Given the description of an element on the screen output the (x, y) to click on. 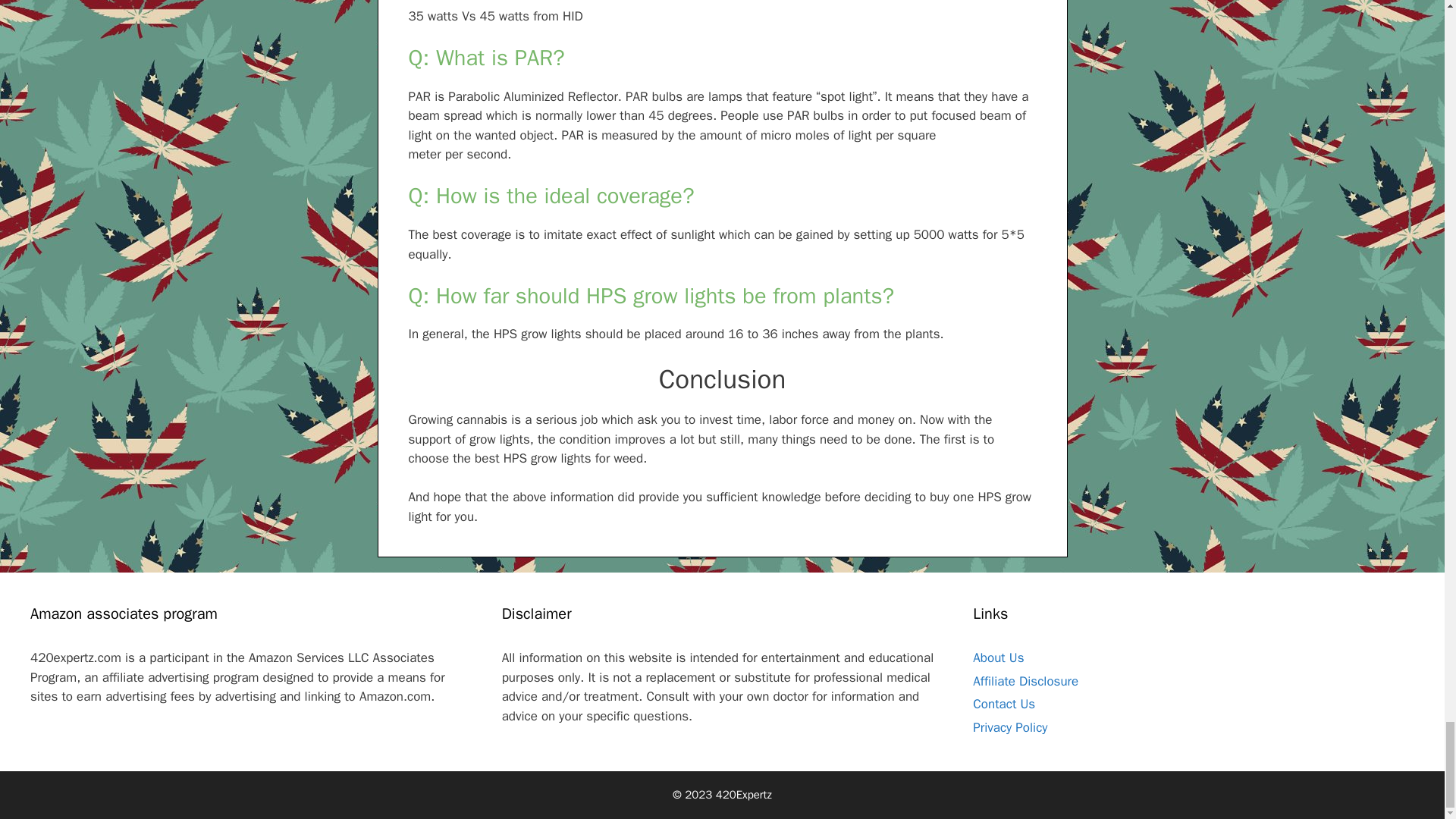
Contact Us (1003, 703)
About Us (997, 657)
Affiliate Disclosure (1025, 681)
Privacy Policy (1009, 727)
